Given the description of an element on the screen output the (x, y) to click on. 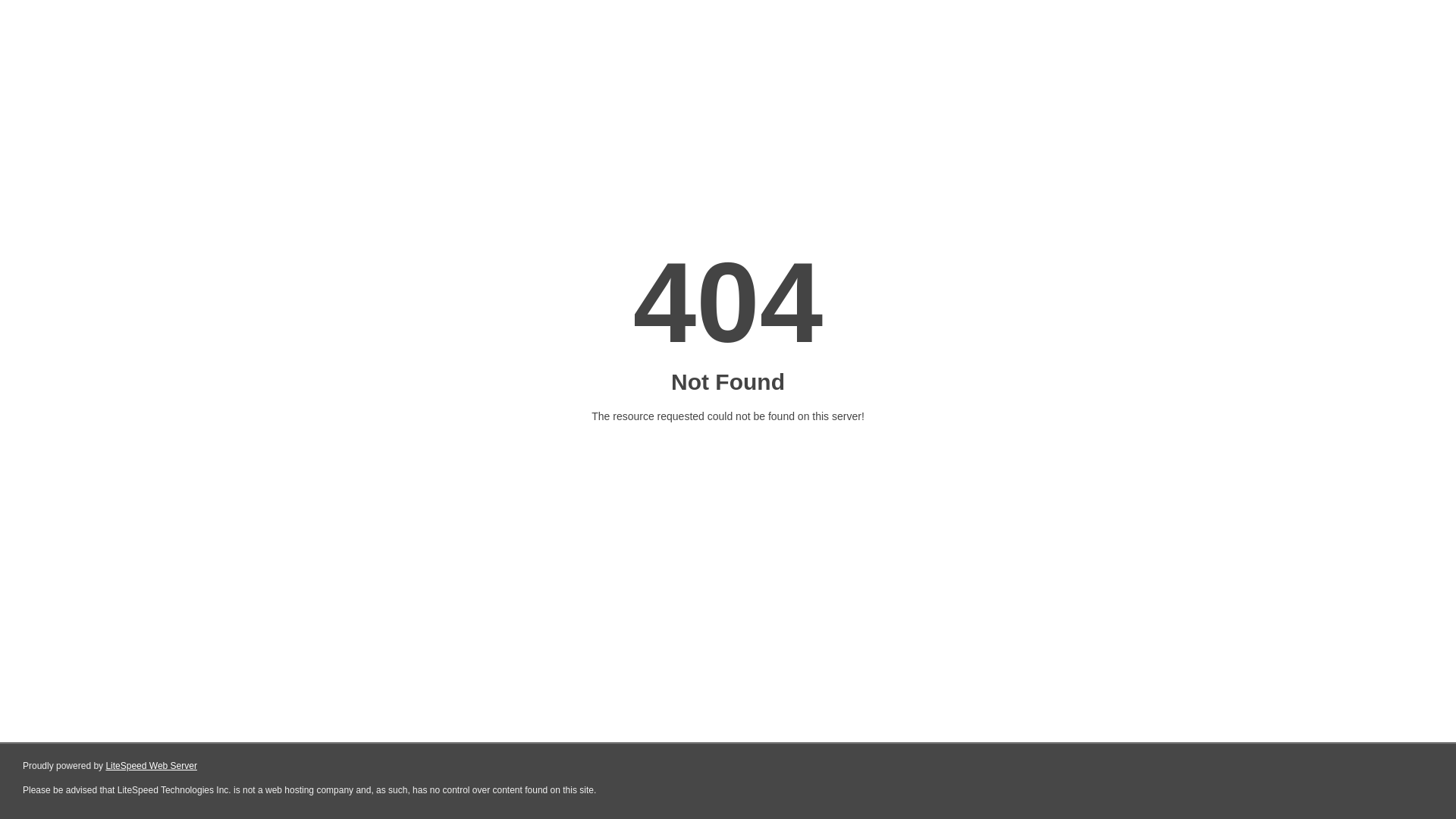
LiteSpeed Web Server Element type: text (151, 765)
